Given the description of an element on the screen output the (x, y) to click on. 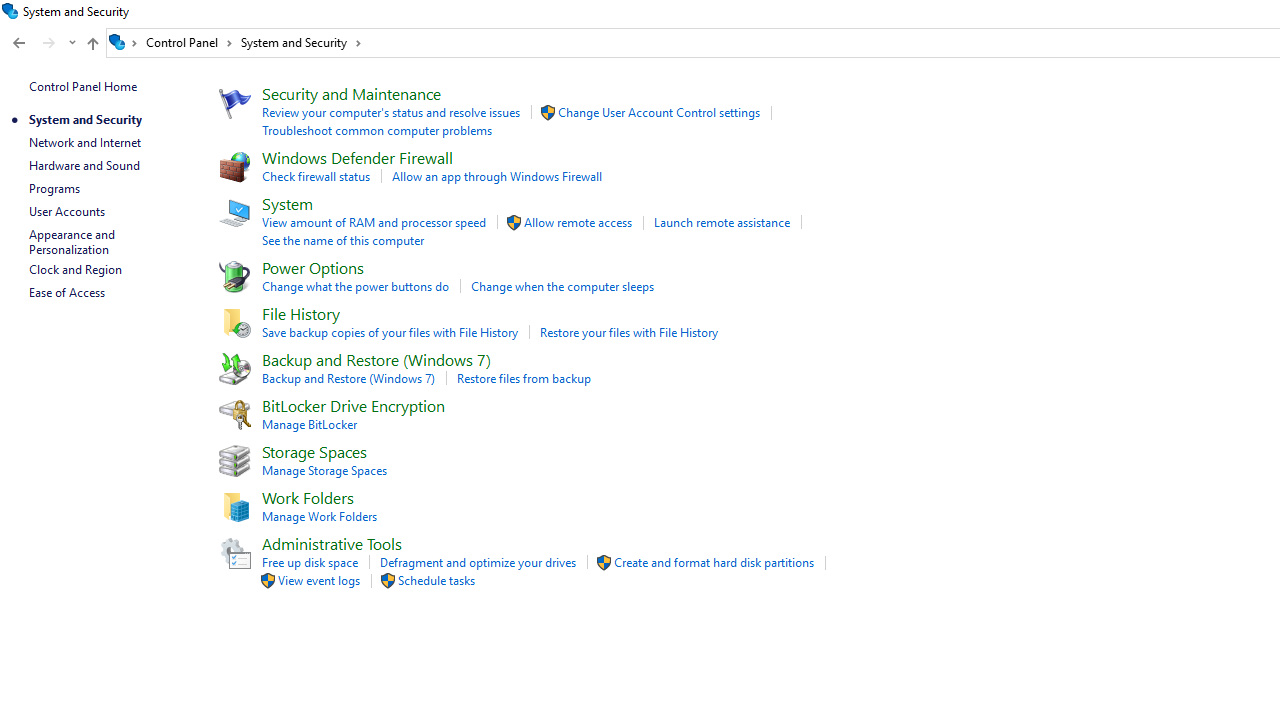
Change when the computer sleeps (561, 286)
Launch remote assistance (721, 222)
Windows Defender Firewall (356, 156)
Troubleshoot common computer problems (376, 130)
Restore files from backup (523, 377)
View amount of RAM and processor speed (373, 222)
Check firewall status (315, 176)
System and Security (301, 42)
Change what the power buttons do (354, 286)
Recent locations (71, 43)
Back to Control Panel (Alt + Left Arrow) (18, 43)
Control Panel Home (82, 86)
Schedule tasks (436, 580)
Allow remote access (577, 222)
Up to "Control Panel" (Alt + Up Arrow) (92, 43)
